Given the description of an element on the screen output the (x, y) to click on. 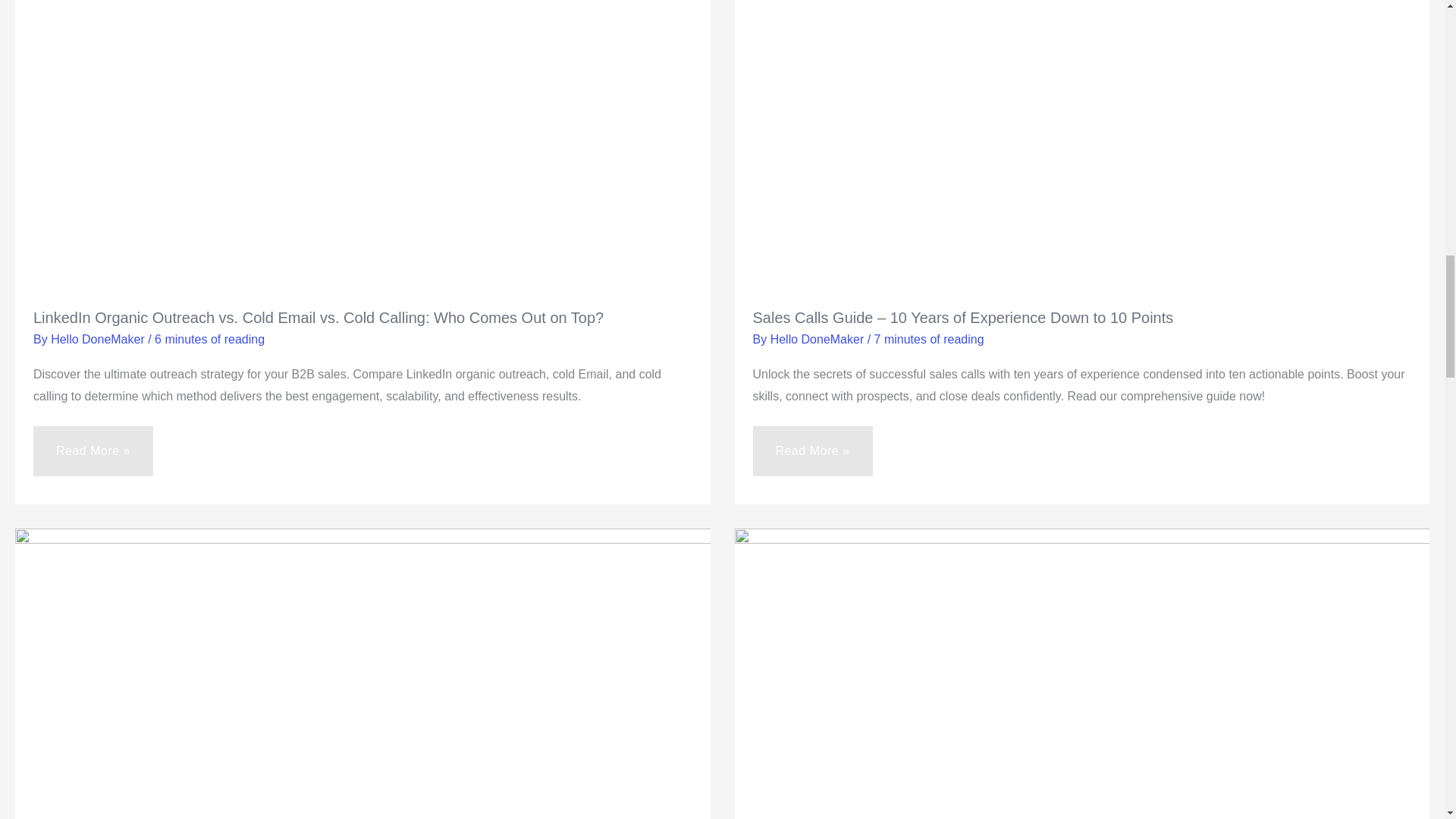
Hello DoneMaker (818, 338)
Hello DoneMaker (99, 338)
View all posts by Hello DoneMaker (818, 338)
View all posts by Hello DoneMaker (99, 338)
